Given the description of an element on the screen output the (x, y) to click on. 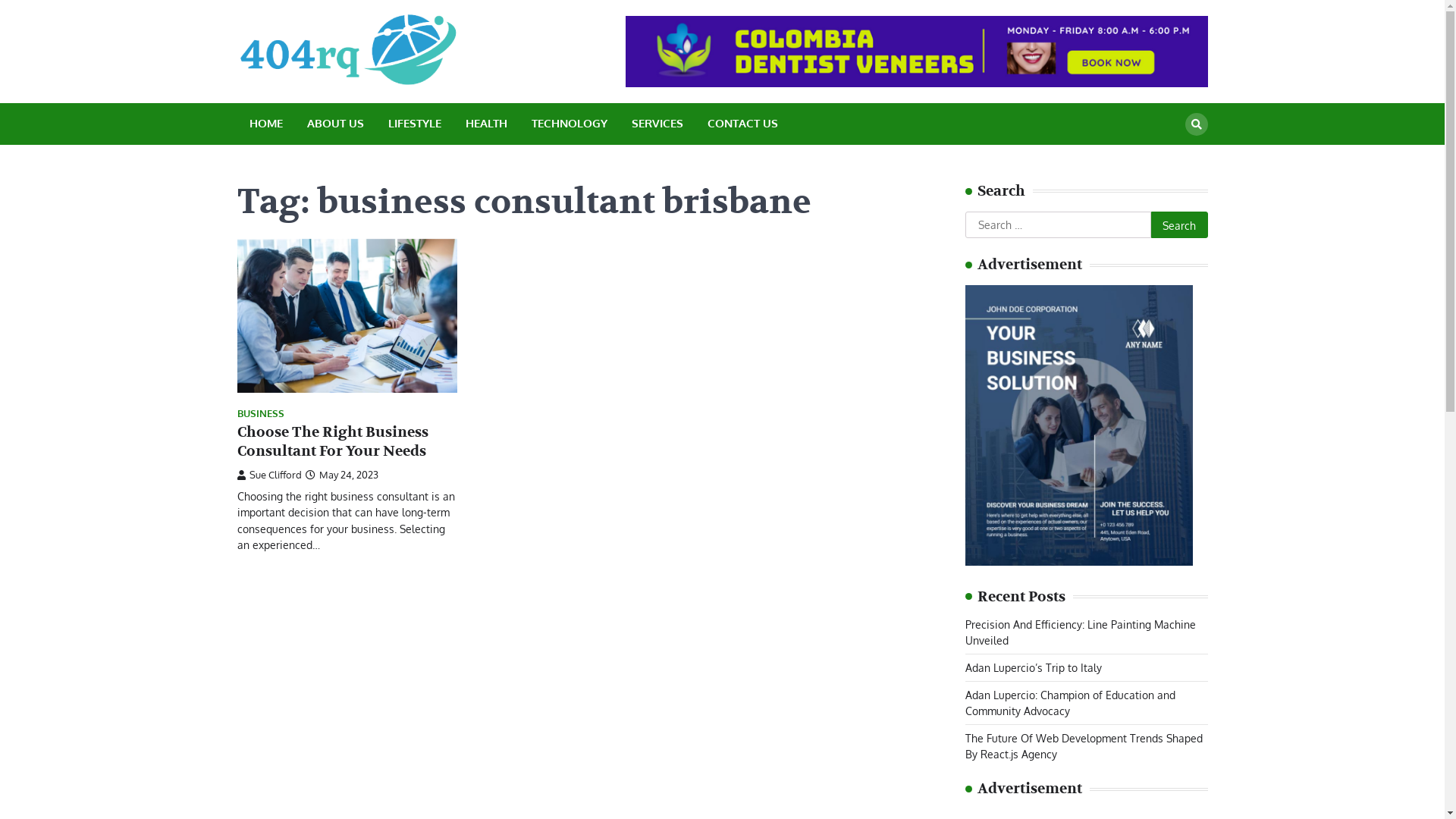
Advertisement Element type: hover (1078, 424)
BUSINESS Element type: text (259, 413)
Search Element type: text (1168, 158)
Search Element type: text (1179, 224)
Sue Clifford Element type: text (268, 474)
LIFESTYLE Element type: text (414, 123)
May 24, 2023 Element type: text (340, 474)
Adan Lupercio: Champion of Education and Community Advocacy Element type: text (1069, 702)
ABOUT US Element type: text (334, 123)
HEALTH Element type: text (486, 123)
SERVICES Element type: text (656, 123)
TECHNOLOGY Element type: text (568, 123)
404rq Element type: text (508, 67)
Choose The Right Business Consultant For Your Needs Element type: text (331, 441)
HOME Element type: text (265, 123)
Search Element type: hover (1195, 123)
Precision And Efficiency: Line Painting Machine Unveiled Element type: text (1079, 632)
CONTACT US Element type: text (741, 123)
